Given the description of an element on the screen output the (x, y) to click on. 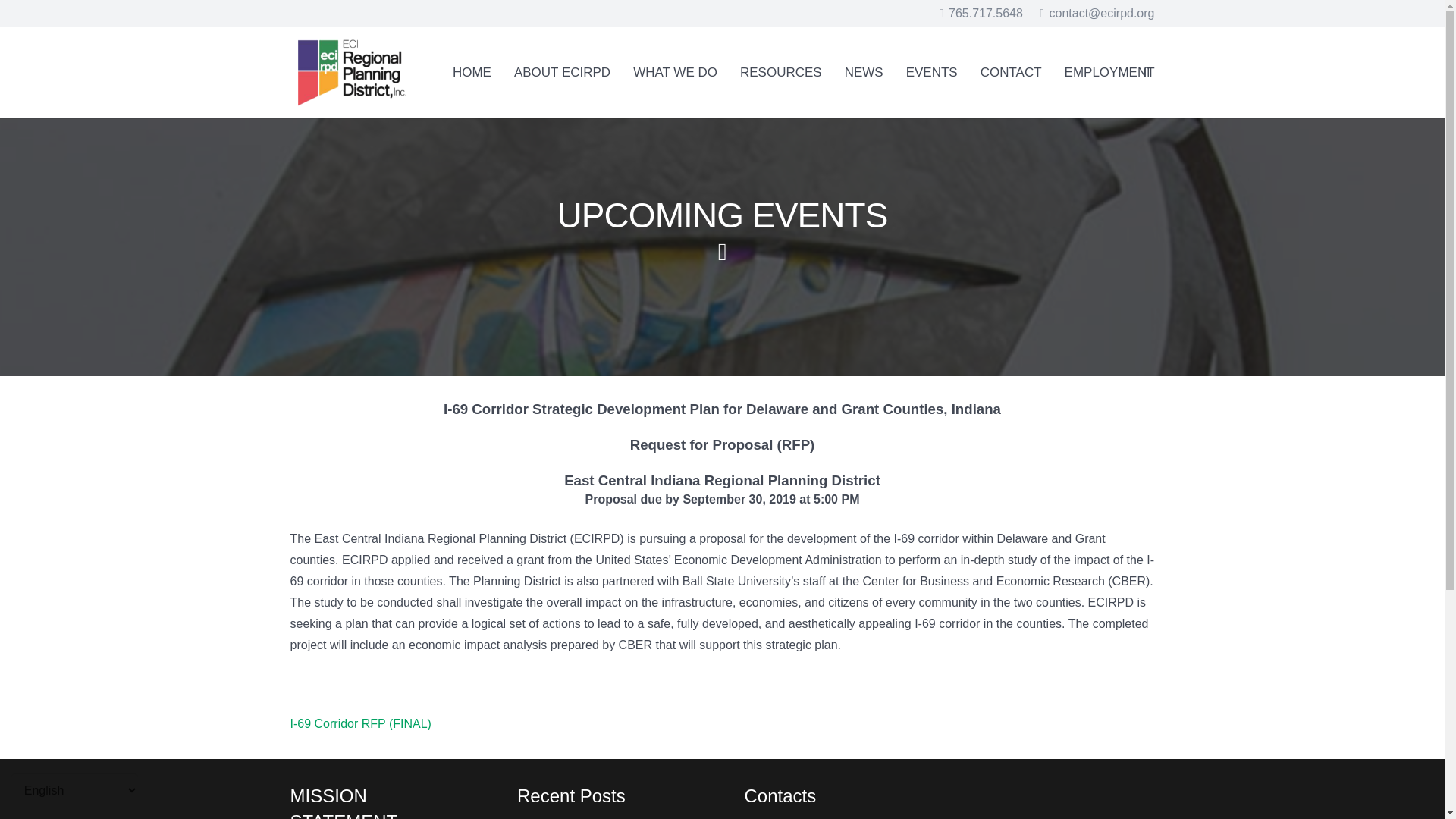
EMPLOYMENT (1109, 72)
ABOUT ECIRPD (561, 72)
RESOURCES (780, 72)
CONTACT (1010, 72)
WHAT WE DO (675, 72)
